Given the description of an element on the screen output the (x, y) to click on. 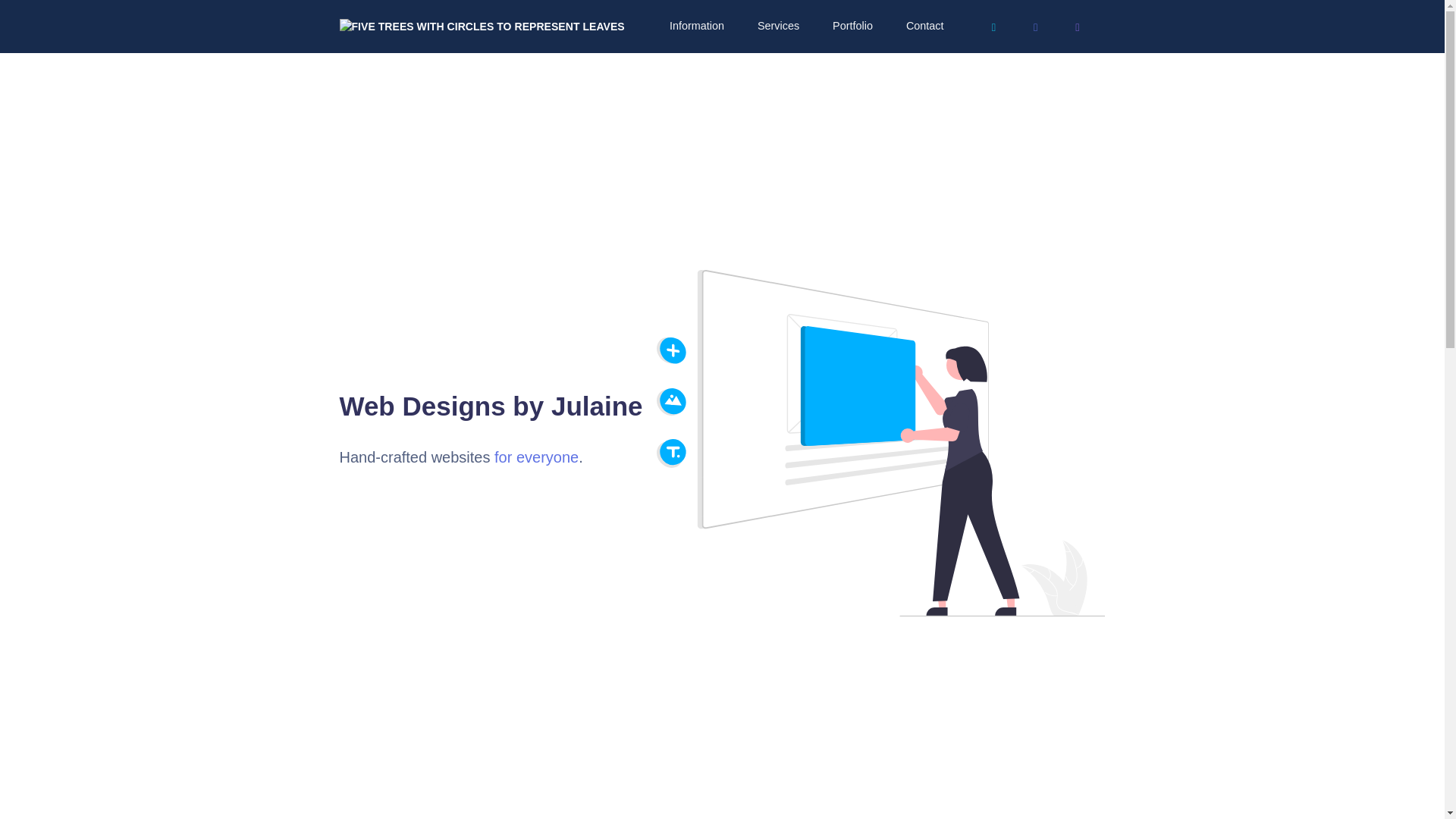
Information (567, 25)
Contact (795, 25)
Services (649, 25)
Portfolio (723, 25)
